Given the description of an element on the screen output the (x, y) to click on. 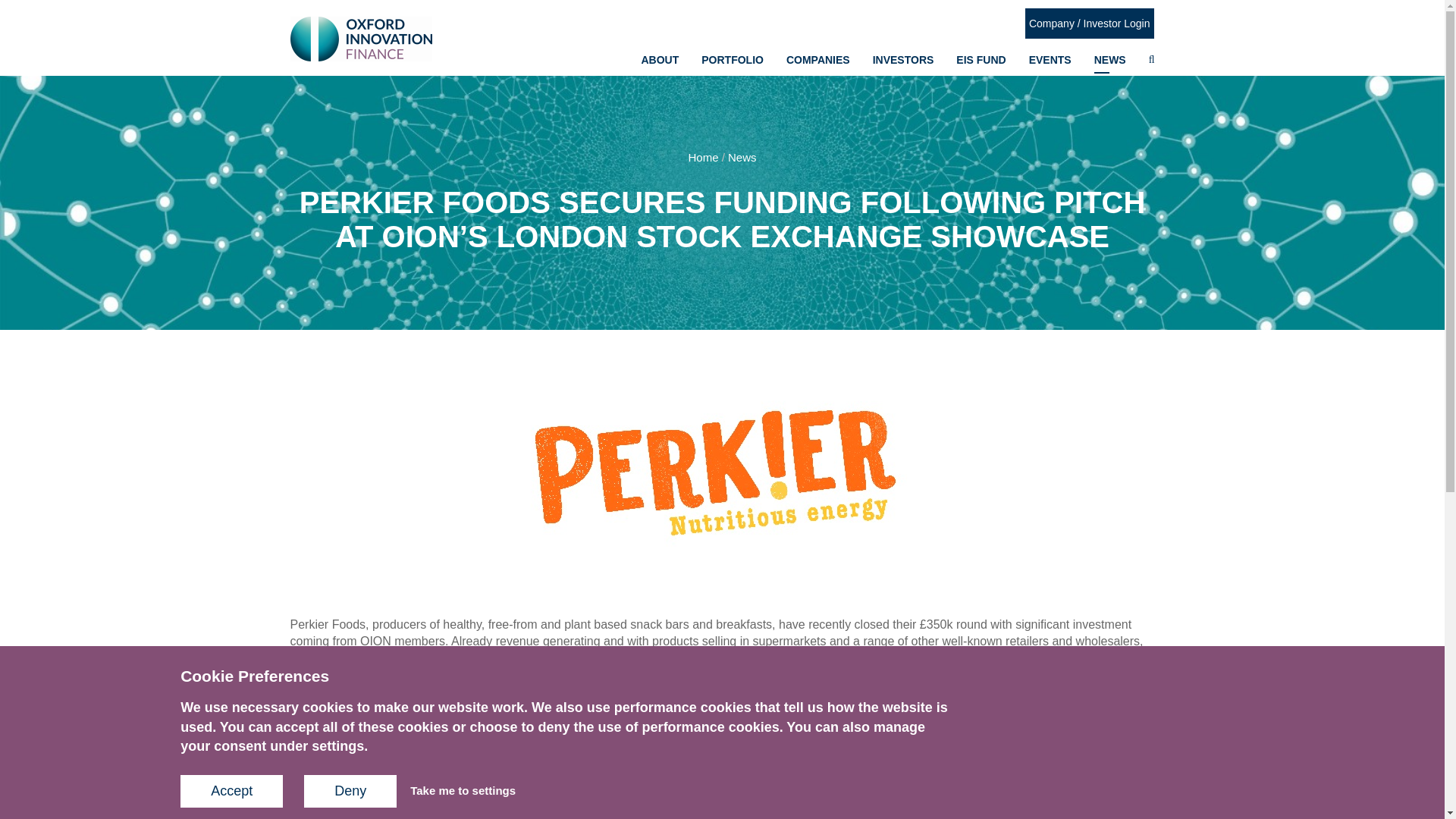
PORTFOLIO (731, 60)
Home (702, 156)
COMPANIES (818, 60)
Search (1062, 99)
INVESTORS (903, 60)
ABOUT (659, 60)
News (742, 156)
EIS FUND (981, 60)
Home (359, 37)
NEWS (1109, 60)
register online (758, 706)
get in touch (671, 706)
EVENTS (1050, 60)
